Given the description of an element on the screen output the (x, y) to click on. 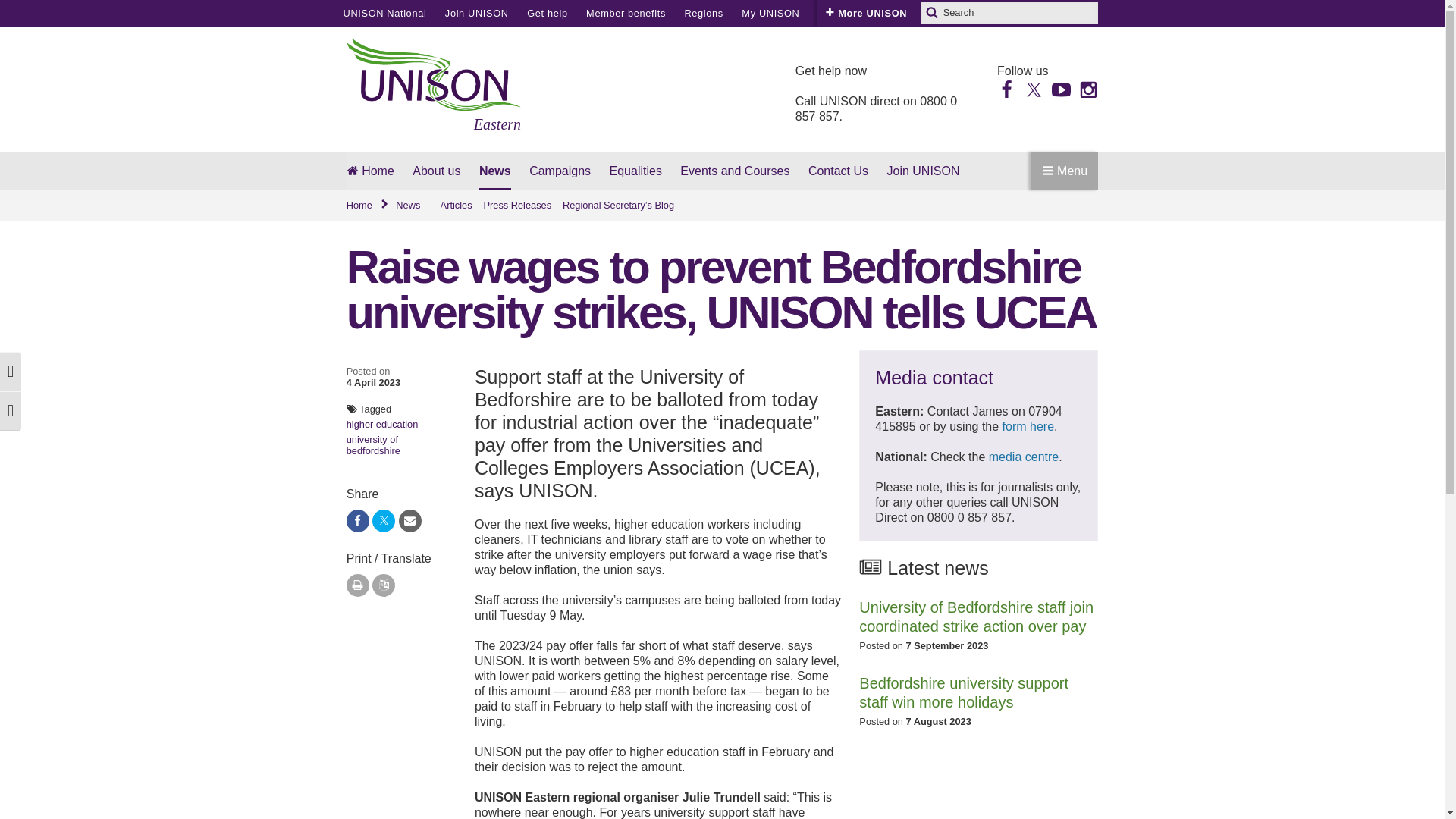
Member benefits (625, 13)
My UNISON (770, 13)
Other sites (844, 13)
Instagram (1087, 88)
Facebook (1006, 88)
Eastern (433, 85)
Home (368, 205)
More UNISON (865, 13)
Get help (547, 13)
Search (931, 12)
UNISON National (384, 13)
Join UNISON (476, 13)
Twitter (1034, 88)
